Given the description of an element on the screen output the (x, y) to click on. 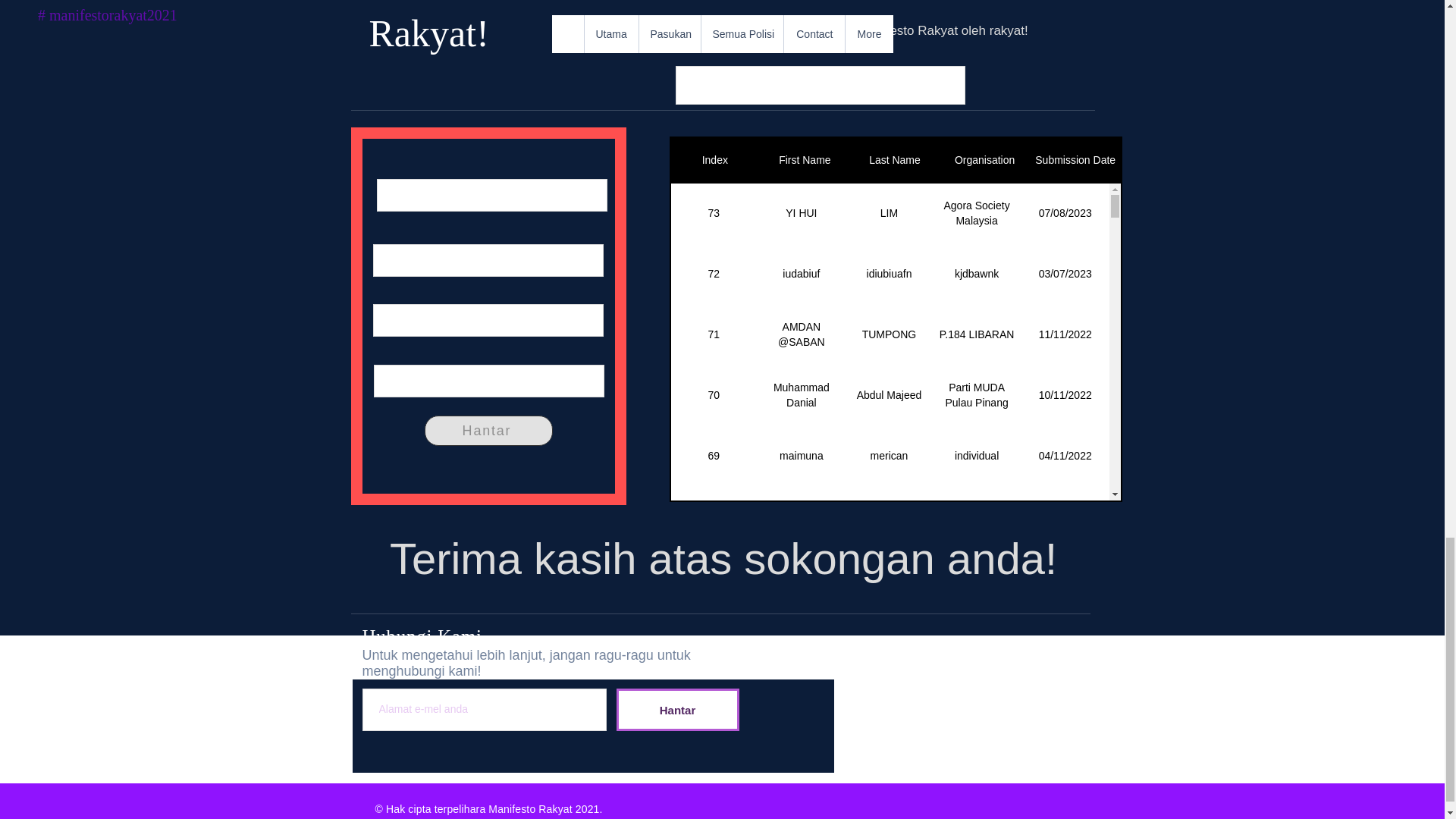
Hantar (676, 709)
Hantar (489, 430)
